Given the description of an element on the screen output the (x, y) to click on. 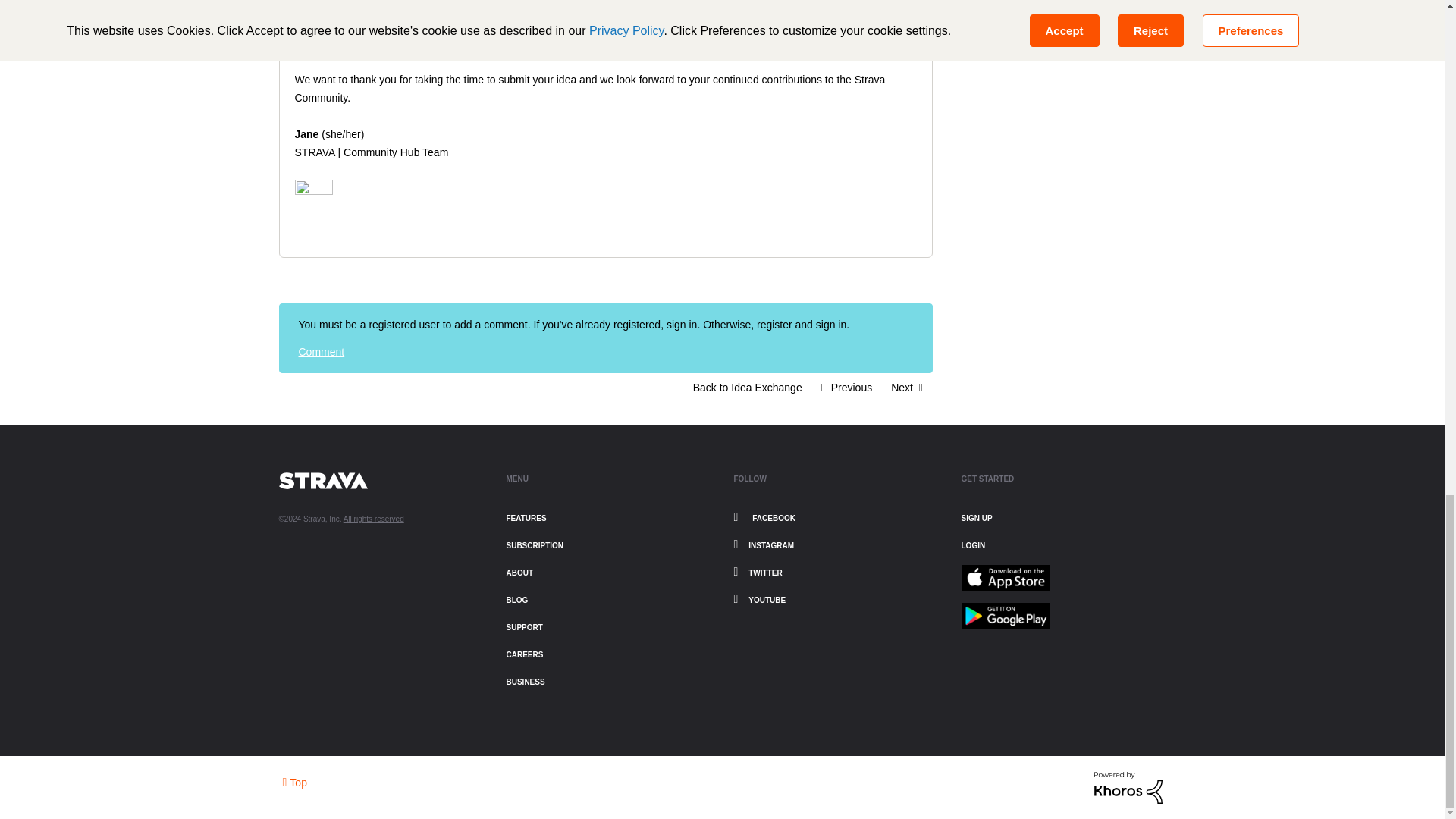
Top (293, 781)
Top (293, 781)
